Given the description of an element on the screen output the (x, y) to click on. 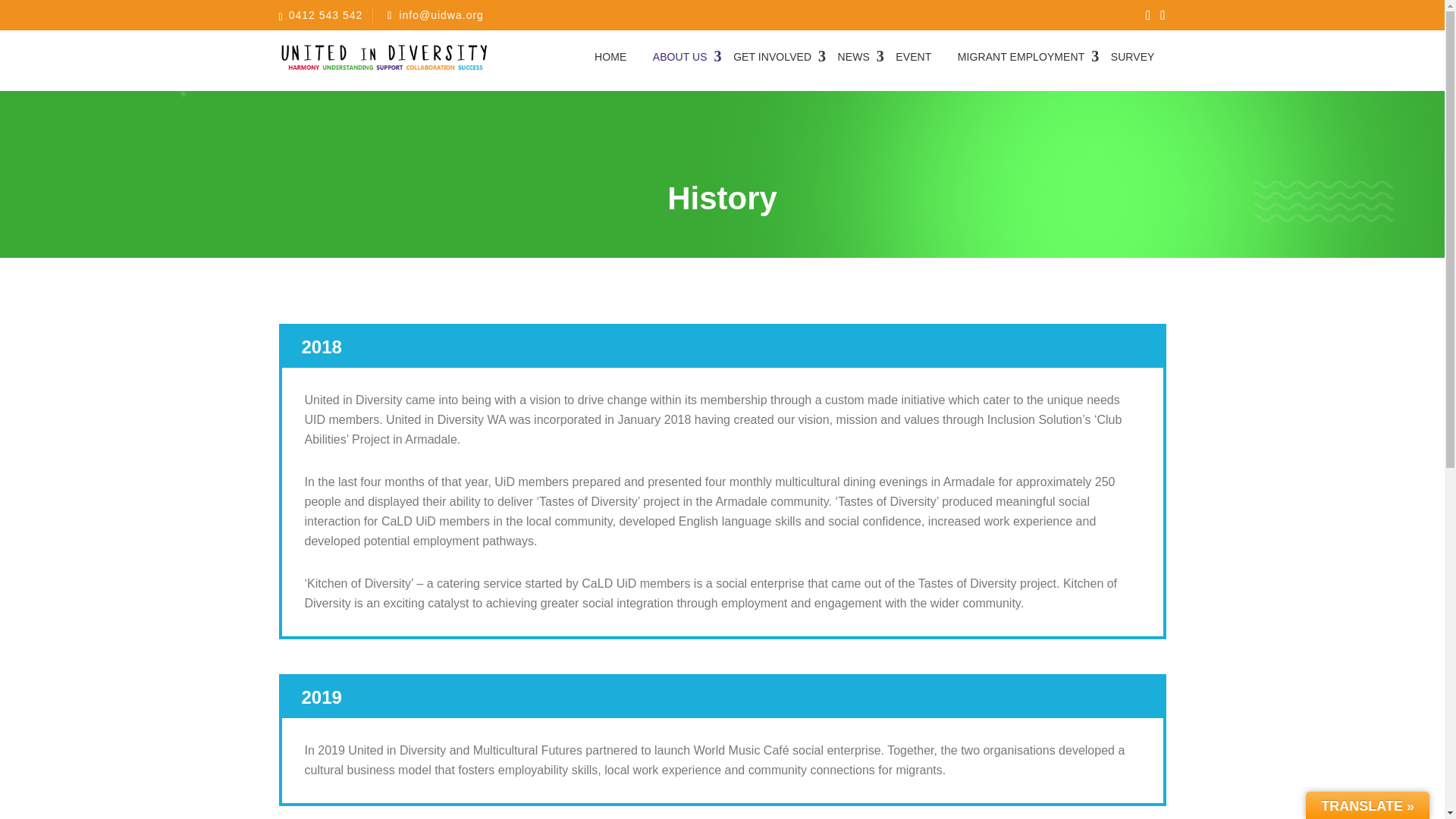
NEWS (853, 56)
ABOUT US (680, 56)
MIGRANT EMPLOYMENT (1021, 56)
HOME (610, 56)
GET INVOLVED (772, 56)
EVENT (912, 56)
SURVEY (1132, 56)
